Given the description of an element on the screen output the (x, y) to click on. 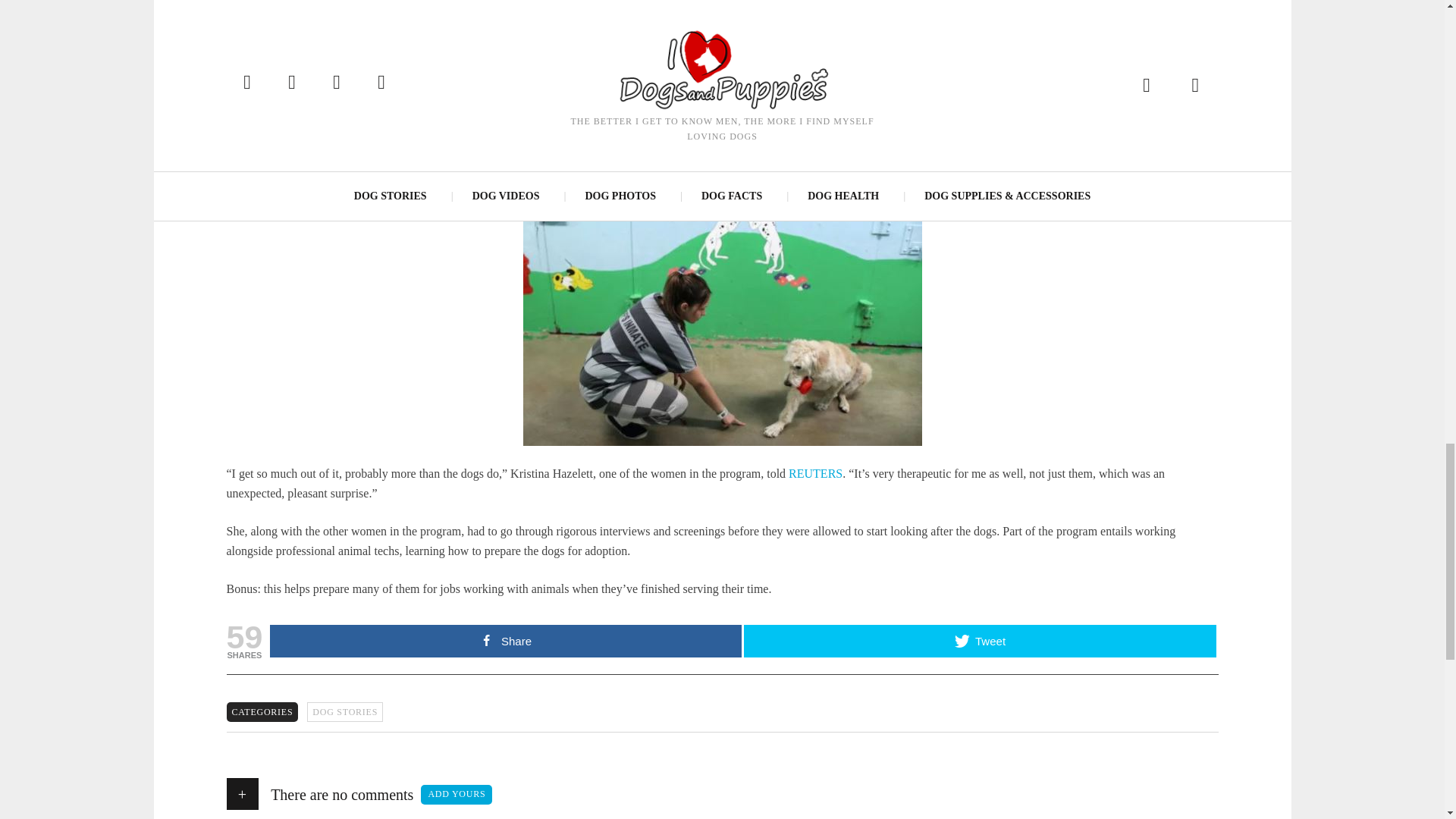
DOG STORIES (344, 711)
REUTERS (816, 472)
View all posts in Dog Stories (344, 711)
Tweet (979, 640)
Share (505, 640)
ADD YOURS (456, 794)
